Given the description of an element on the screen output the (x, y) to click on. 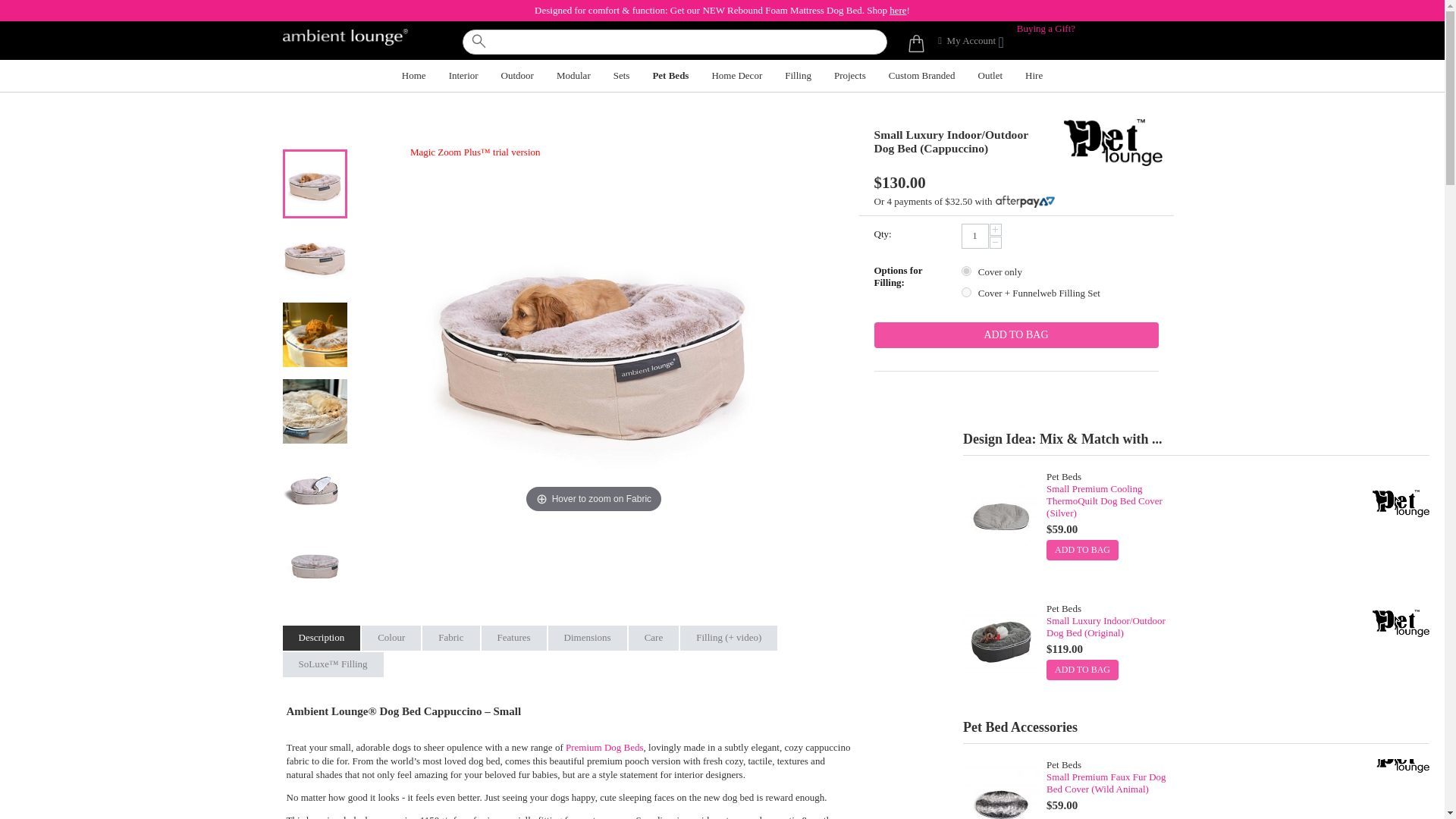
352 (965, 271)
Home (414, 70)
1 (974, 235)
  My Account (970, 40)
545 (965, 292)
Ambient Lounge (344, 35)
Buying a Gift? (1045, 28)
Pet Lounge (1111, 141)
search products eg. dog beds (674, 41)
small dog bed fur australia cute dog melbourne (314, 566)
Interior (463, 70)
